Given the description of an element on the screen output the (x, y) to click on. 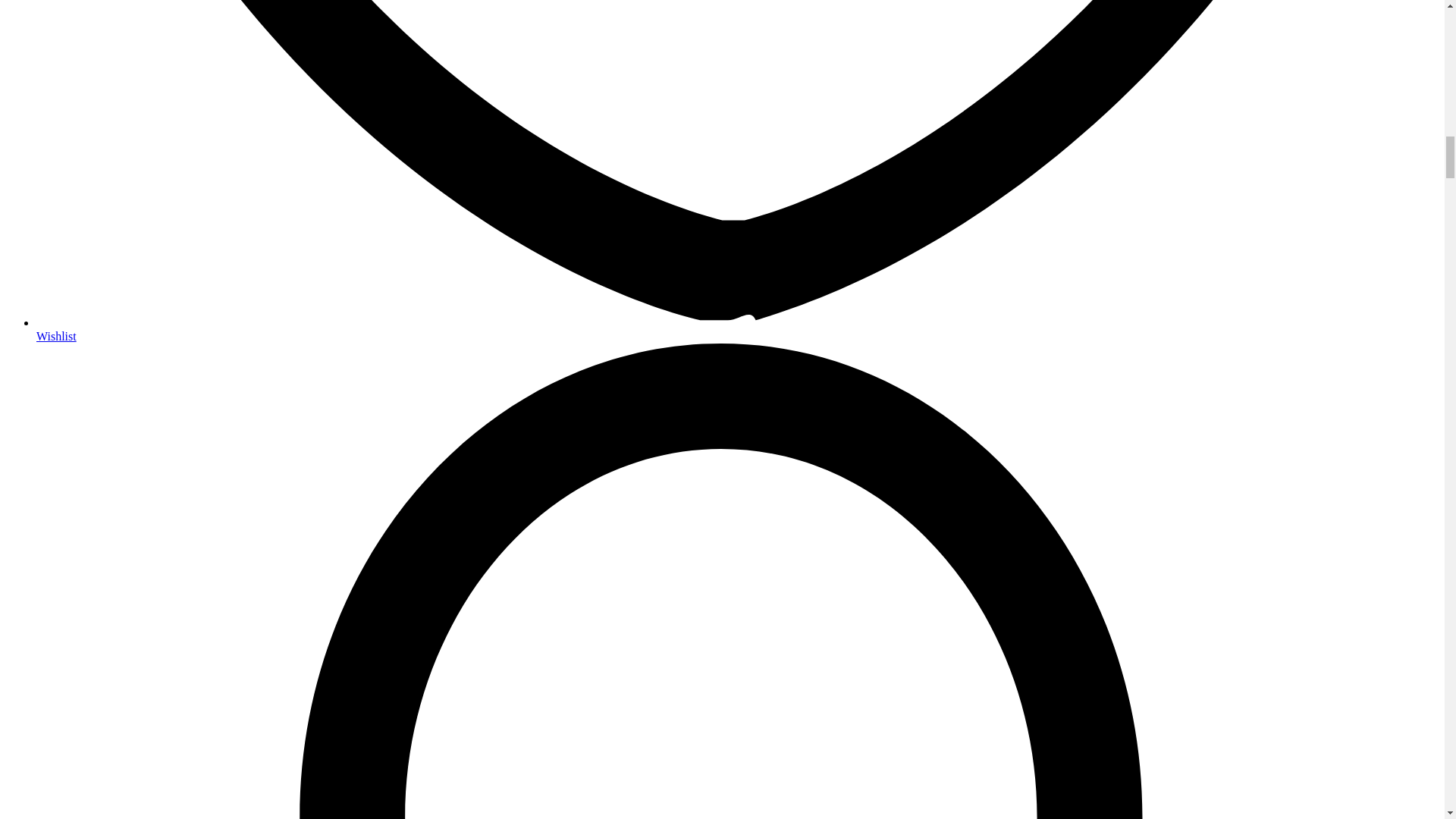
Wishlist (56, 336)
